Given the description of an element on the screen output the (x, y) to click on. 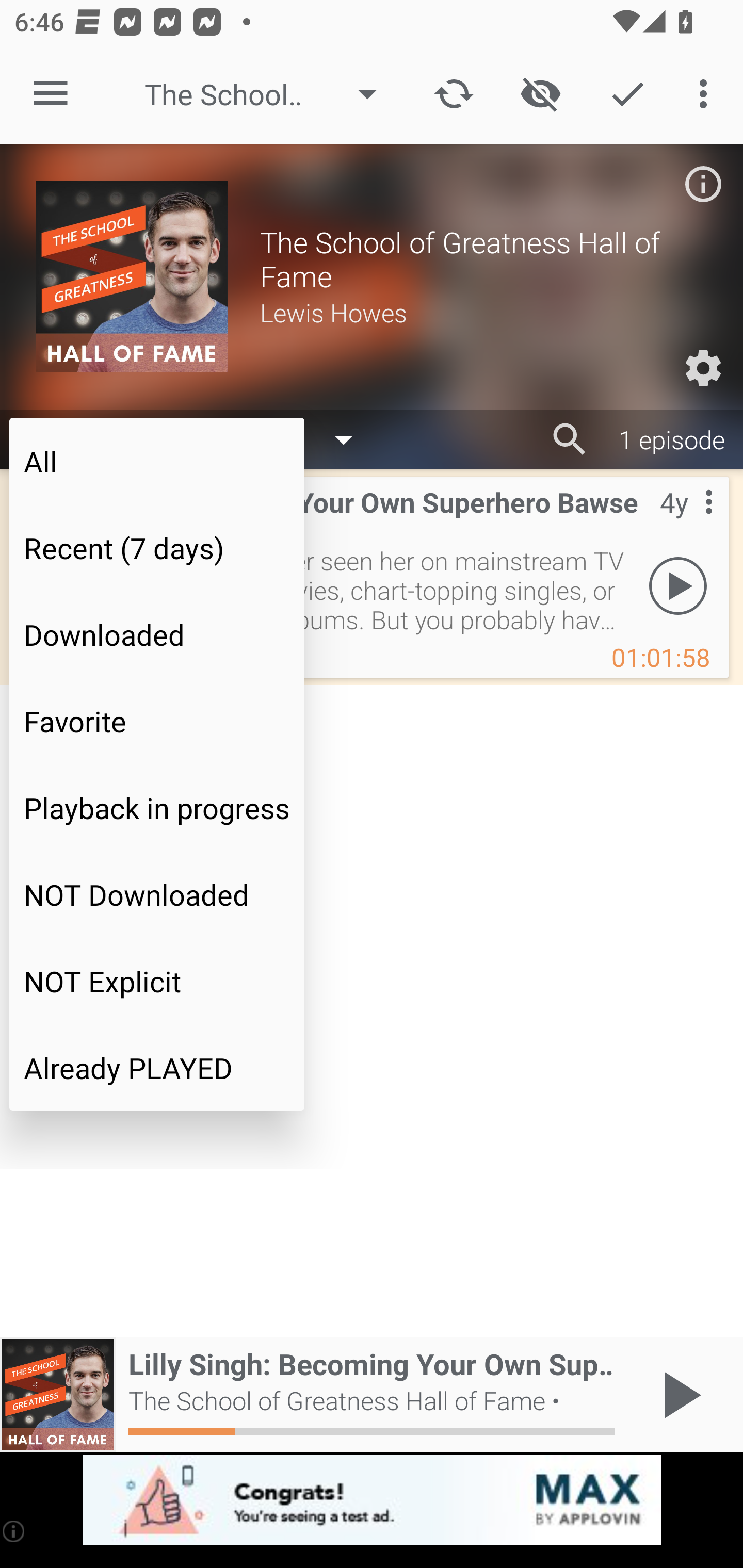
All (156, 460)
Recent (7 days) (156, 547)
Downloaded (156, 634)
Favorite (156, 721)
Playback in progress (156, 808)
NOT Downloaded (156, 894)
NOT Explicit (156, 980)
Already PLAYED (156, 1067)
